Given the description of an element on the screen output the (x, y) to click on. 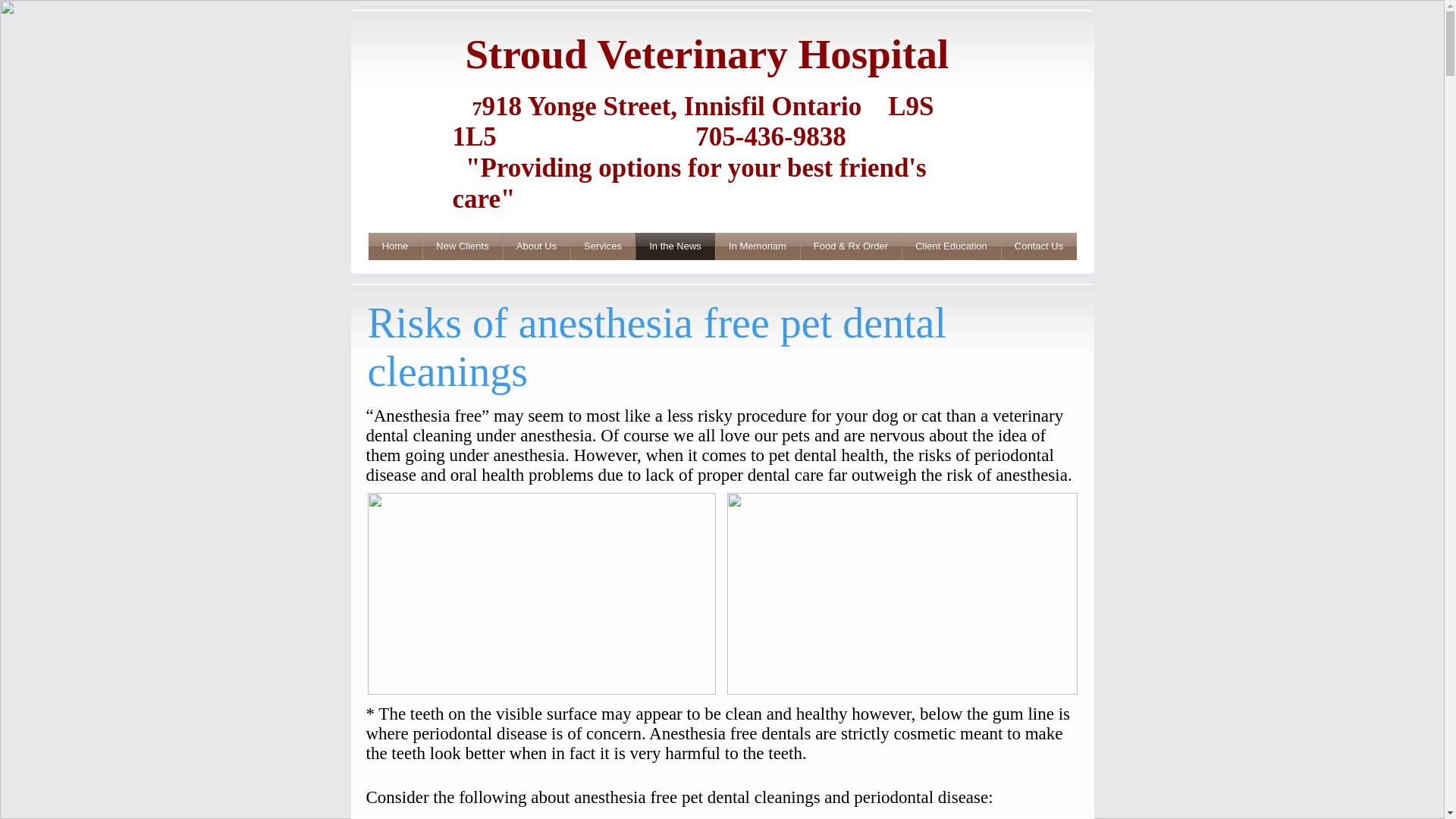
918 (501, 106)
Services (602, 246)
    7 (466, 108)
About Us (536, 246)
In the News (674, 246)
Contact Us (1038, 246)
Home (395, 246)
In Memoriam (757, 246)
New Clients (462, 246)
Client Education (951, 246)
